Given the description of an element on the screen output the (x, y) to click on. 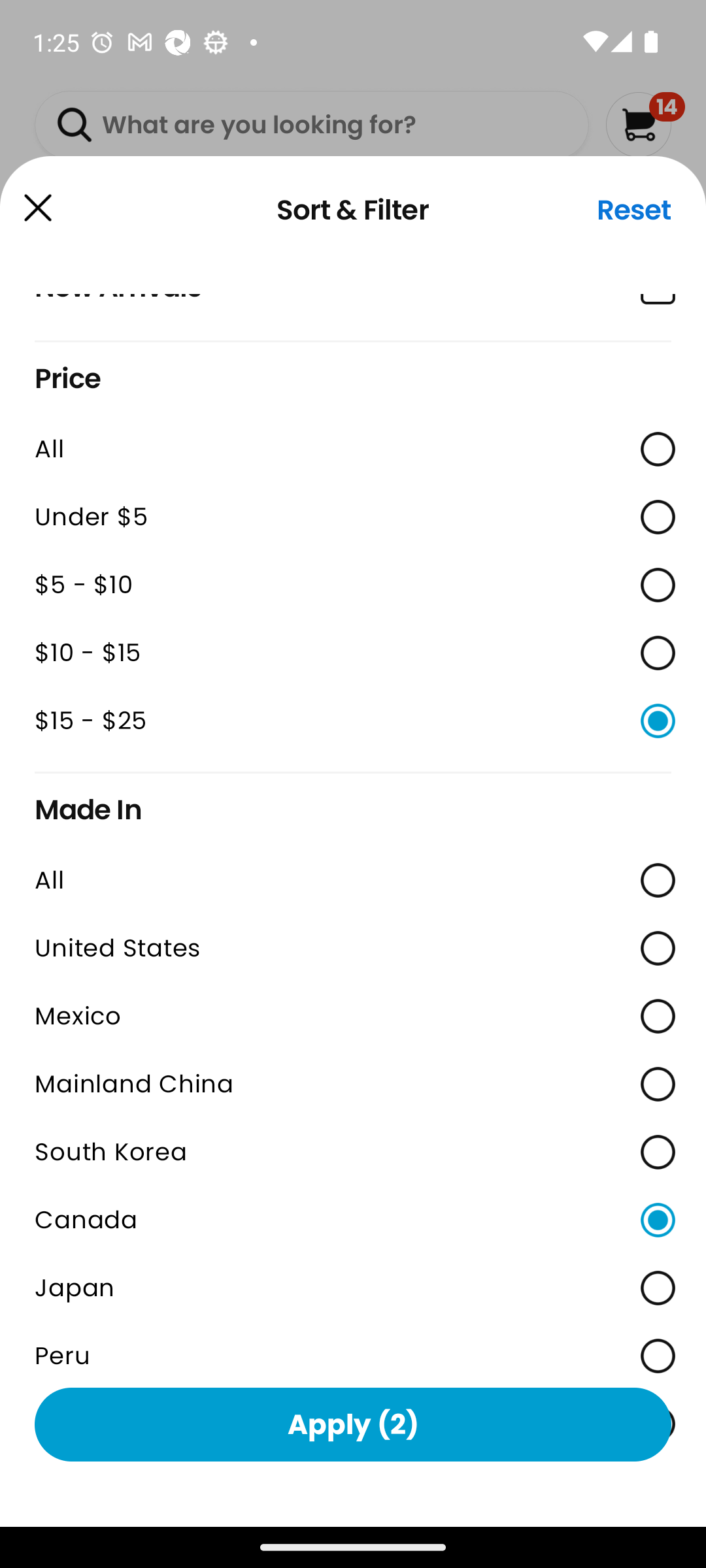
Reset (633, 209)
Apply (2) (352, 1424)
